Given the description of an element on the screen output the (x, y) to click on. 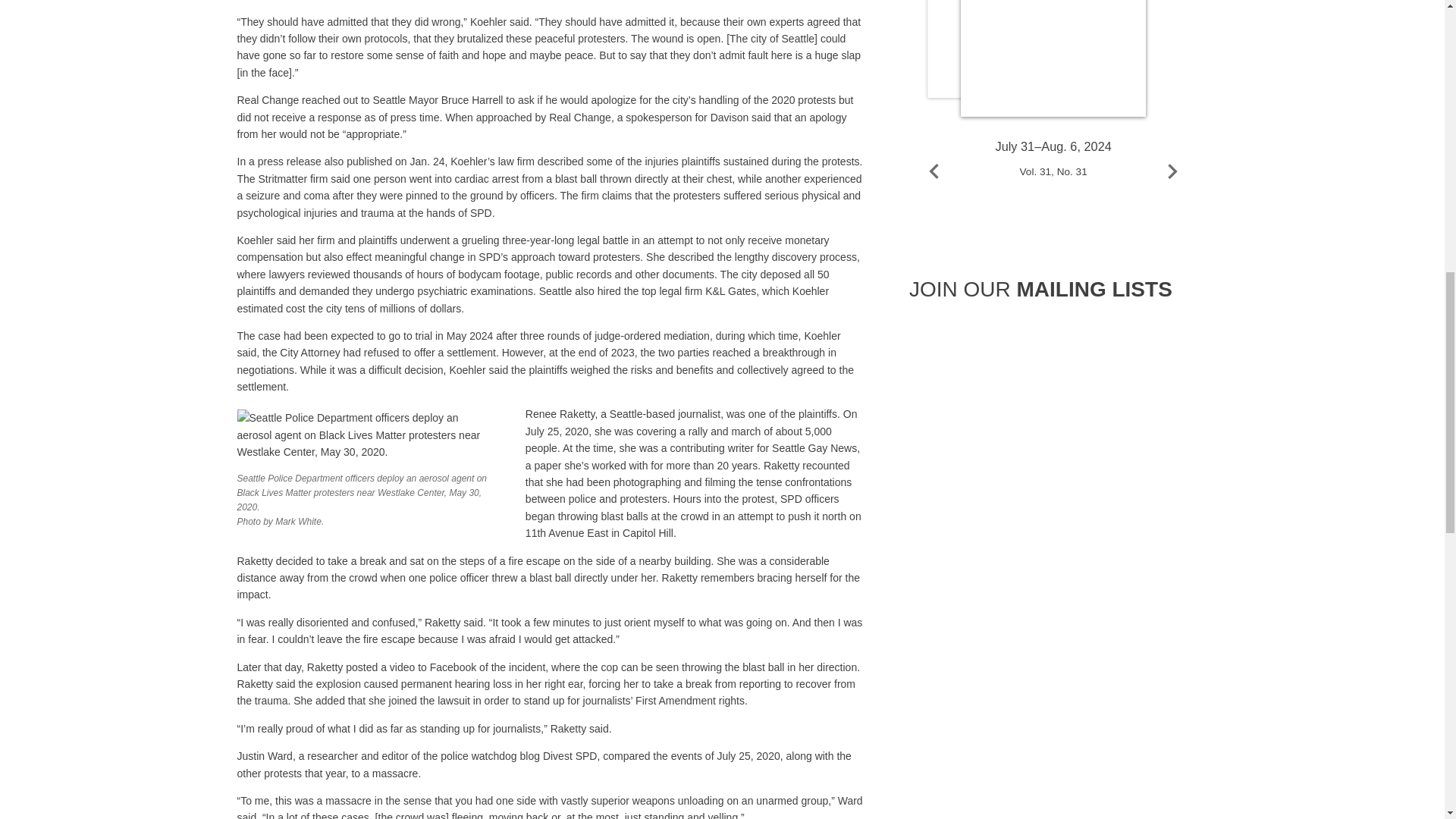
Next issue (1172, 171)
Previous issue (933, 171)
